Given the description of an element on the screen output the (x, y) to click on. 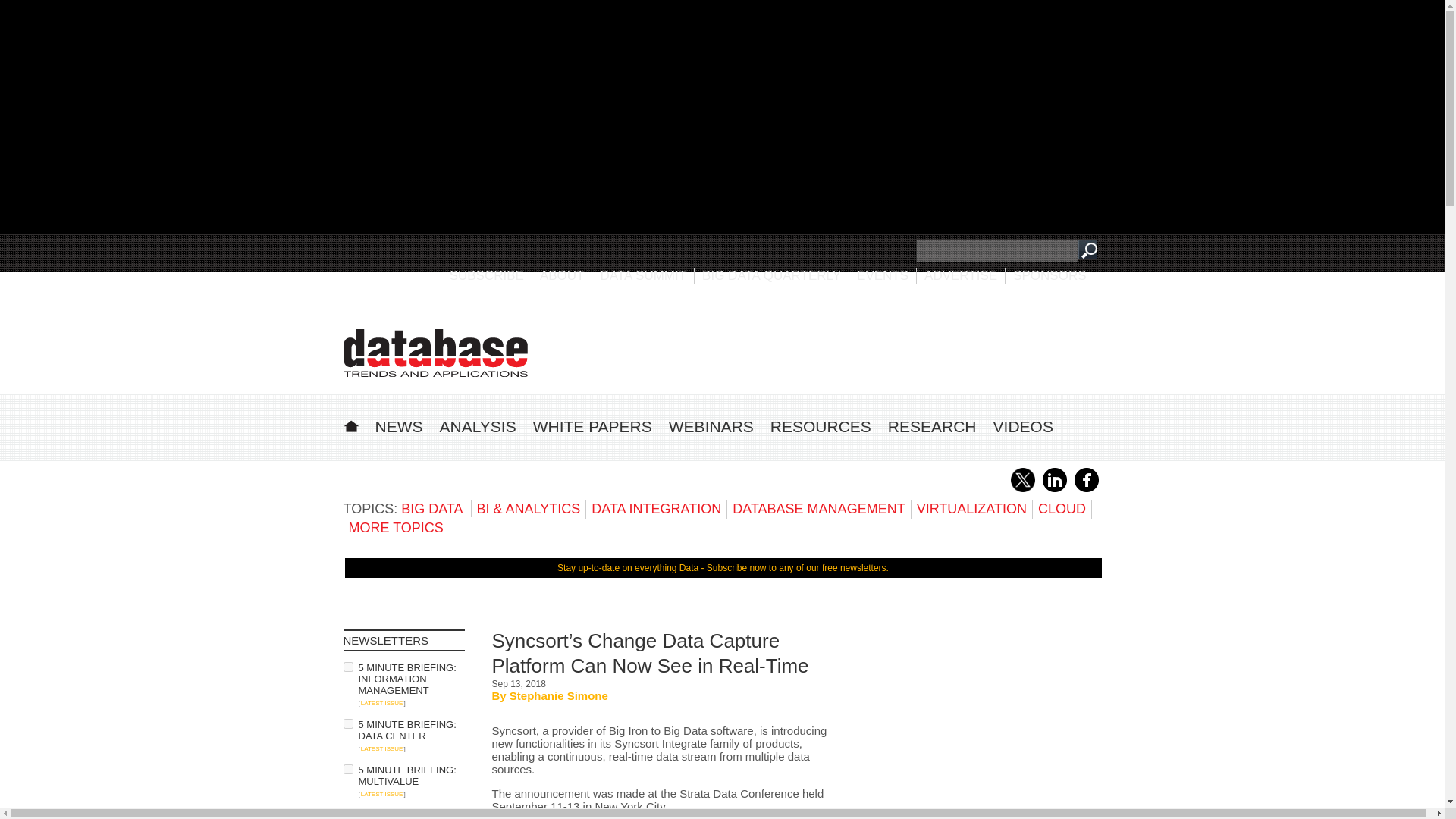
DBTA on Facebook (1085, 489)
NEWS (398, 425)
SPONSORS (1049, 275)
on (347, 814)
EVENTS (882, 275)
Click for more articles by this author (558, 695)
DATA SUMMIT (642, 275)
ADVERTISE (960, 275)
RESOURCES (820, 425)
on (347, 768)
WEBINARS (711, 425)
WHITE PAPERS (592, 425)
DBTA on LinkedIn (1053, 489)
RESEARCH (932, 425)
on (347, 723)
